Given the description of an element on the screen output the (x, y) to click on. 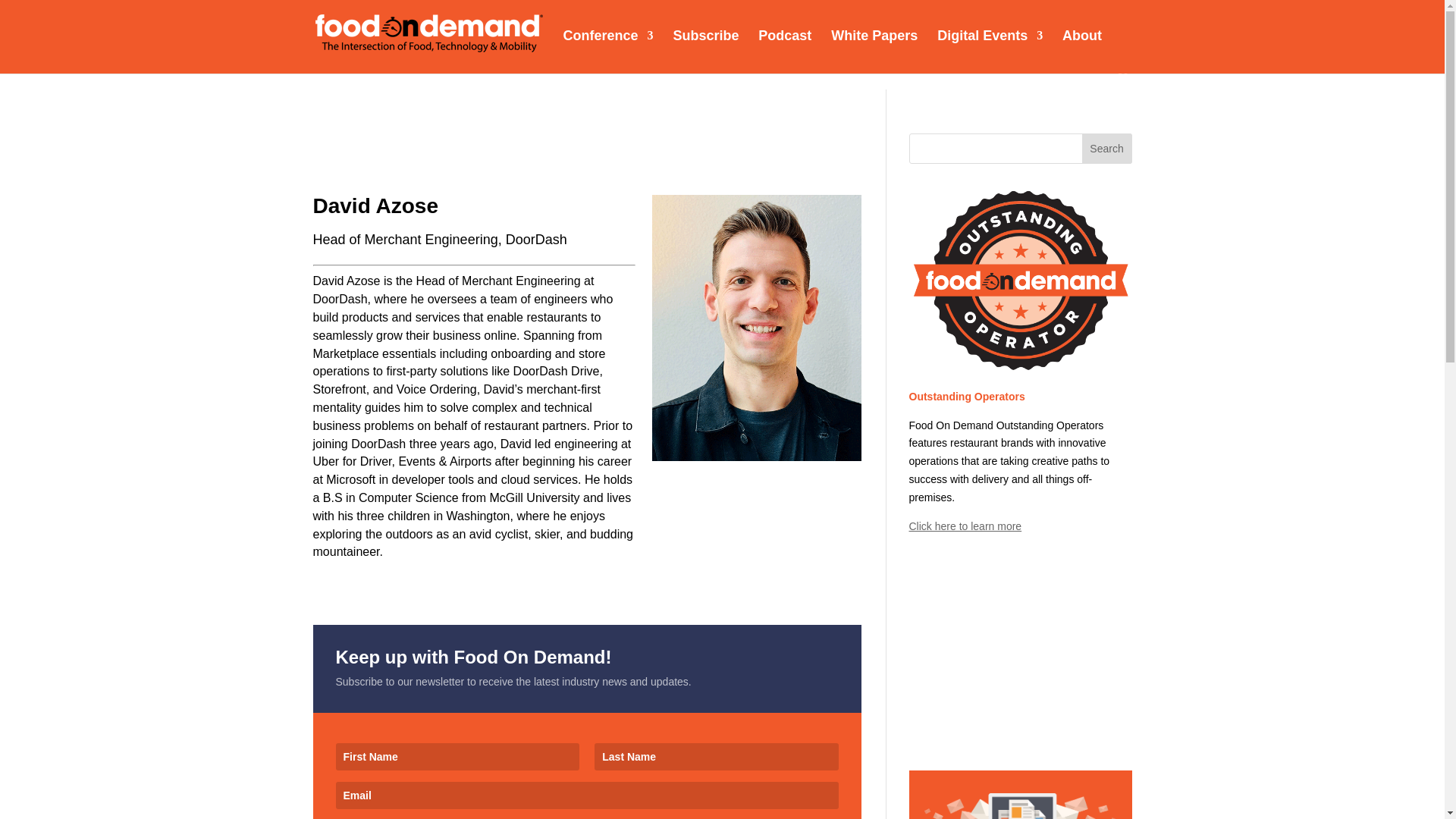
Podcast (784, 50)
Search (1106, 148)
Subscribe (705, 50)
Digital Events (989, 50)
Search (1106, 148)
Click here to learn more (965, 526)
3rd party ad content (1019, 652)
About (1082, 50)
White Papers (874, 50)
Conference (607, 50)
